Given the description of an element on the screen output the (x, y) to click on. 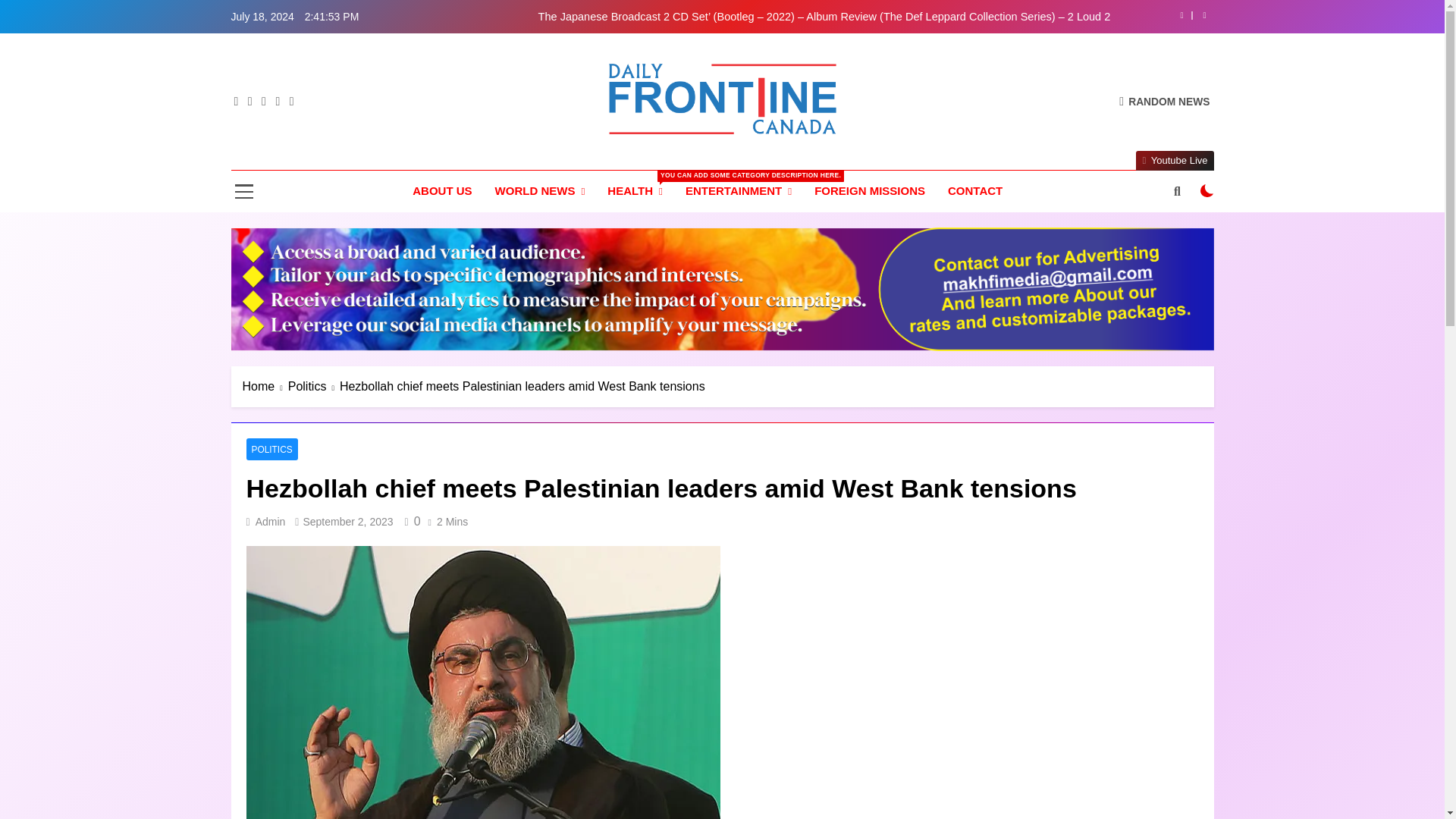
RANDOM NEWS (1164, 101)
Daily Frontline (591, 156)
on (1206, 191)
